Given the description of an element on the screen output the (x, y) to click on. 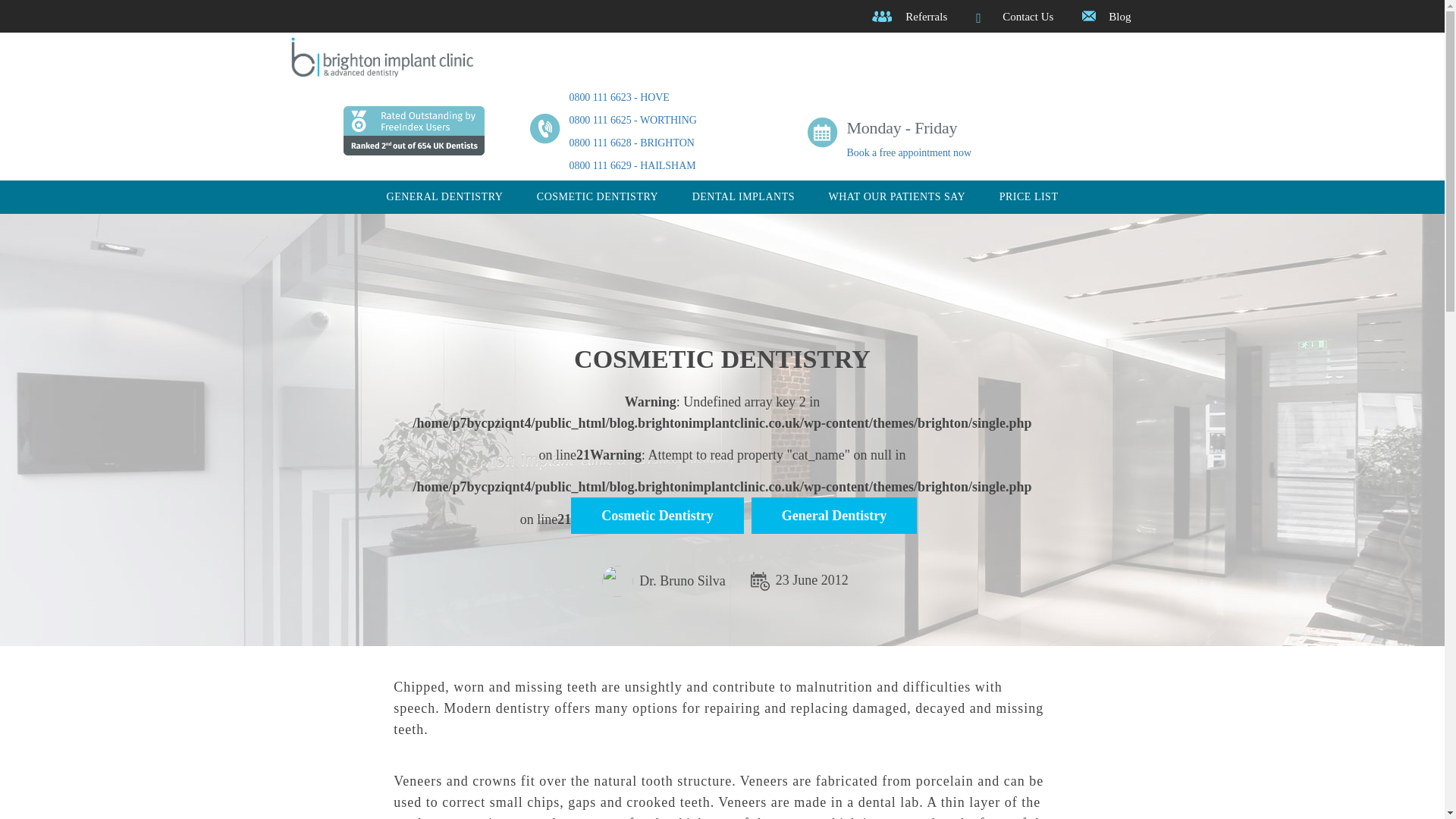
0800 111 6625 - WORTHING (632, 120)
DENTAL IMPLANTS (743, 196)
0800 111 6628 - BRIGHTON (631, 142)
PRICE LIST (1028, 196)
WHAT OUR PATIENTS SAY (896, 196)
Contact Us (1027, 16)
0800 111 6629 - HAILSHAM (632, 165)
Referrals (926, 16)
Book a free appointment now (908, 152)
0800 111 6623 - HOVE (618, 97)
COSMETIC DENTISTRY (597, 196)
Blog (1119, 16)
GENERAL DENTISTRY (445, 196)
